Given the description of an element on the screen output the (x, y) to click on. 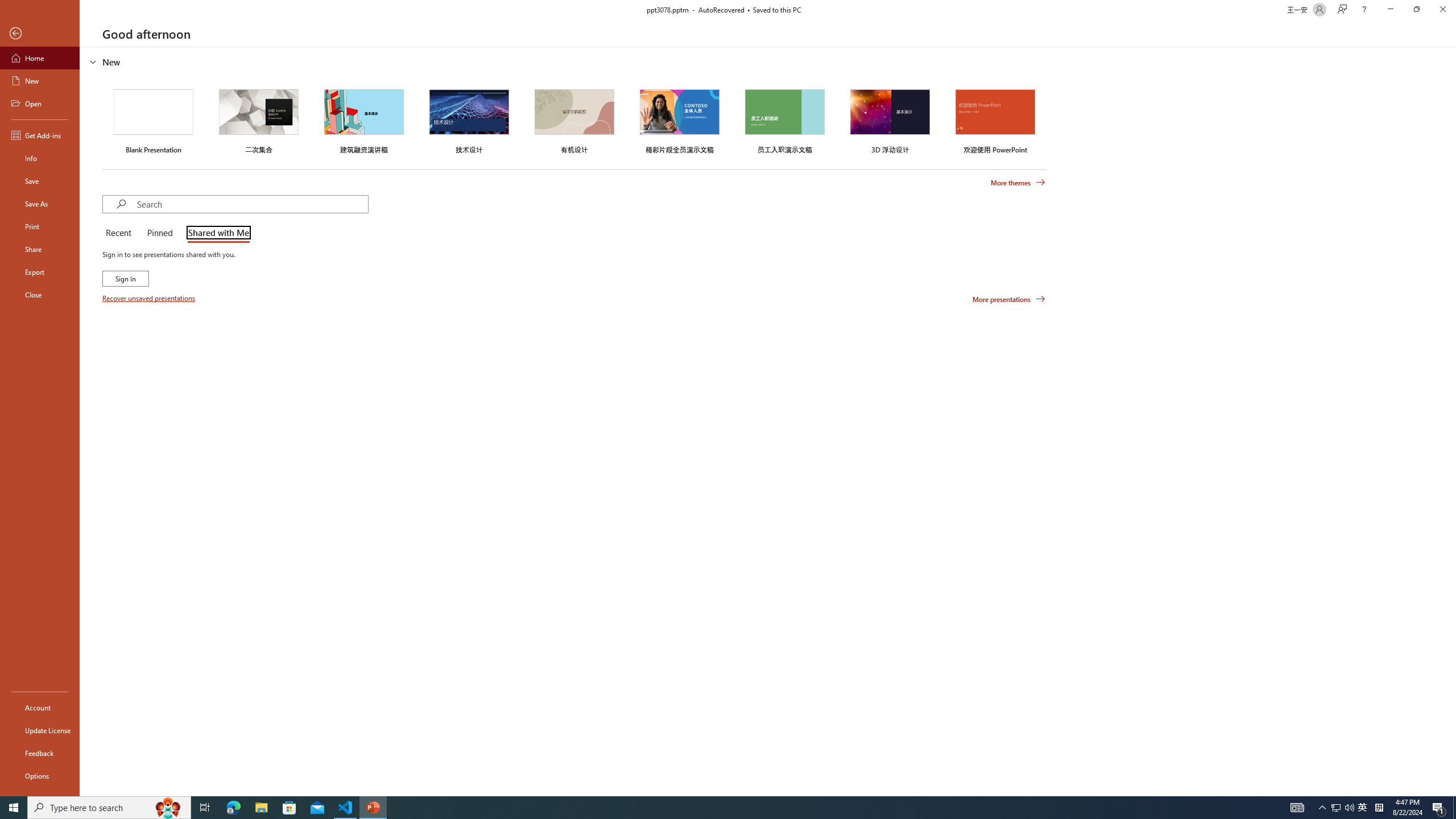
Back (40, 33)
More themes (1018, 182)
Get Add-ins (40, 134)
Account (40, 707)
Print (40, 225)
Info (40, 157)
Recent (119, 233)
